Given the description of an element on the screen output the (x, y) to click on. 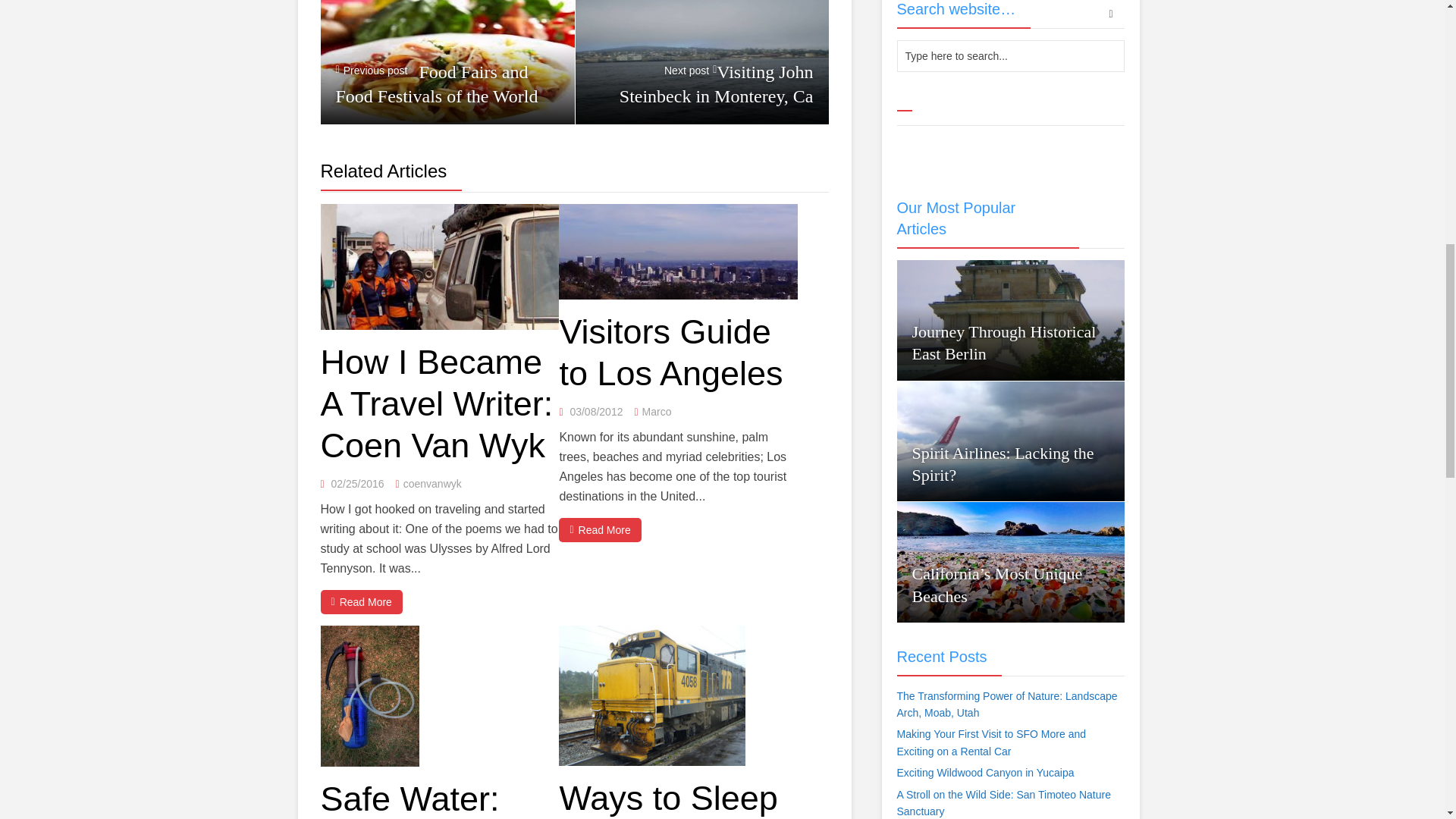
Type here to search... (1010, 56)
Type here to search... (1010, 56)
